Given the description of an element on the screen output the (x, y) to click on. 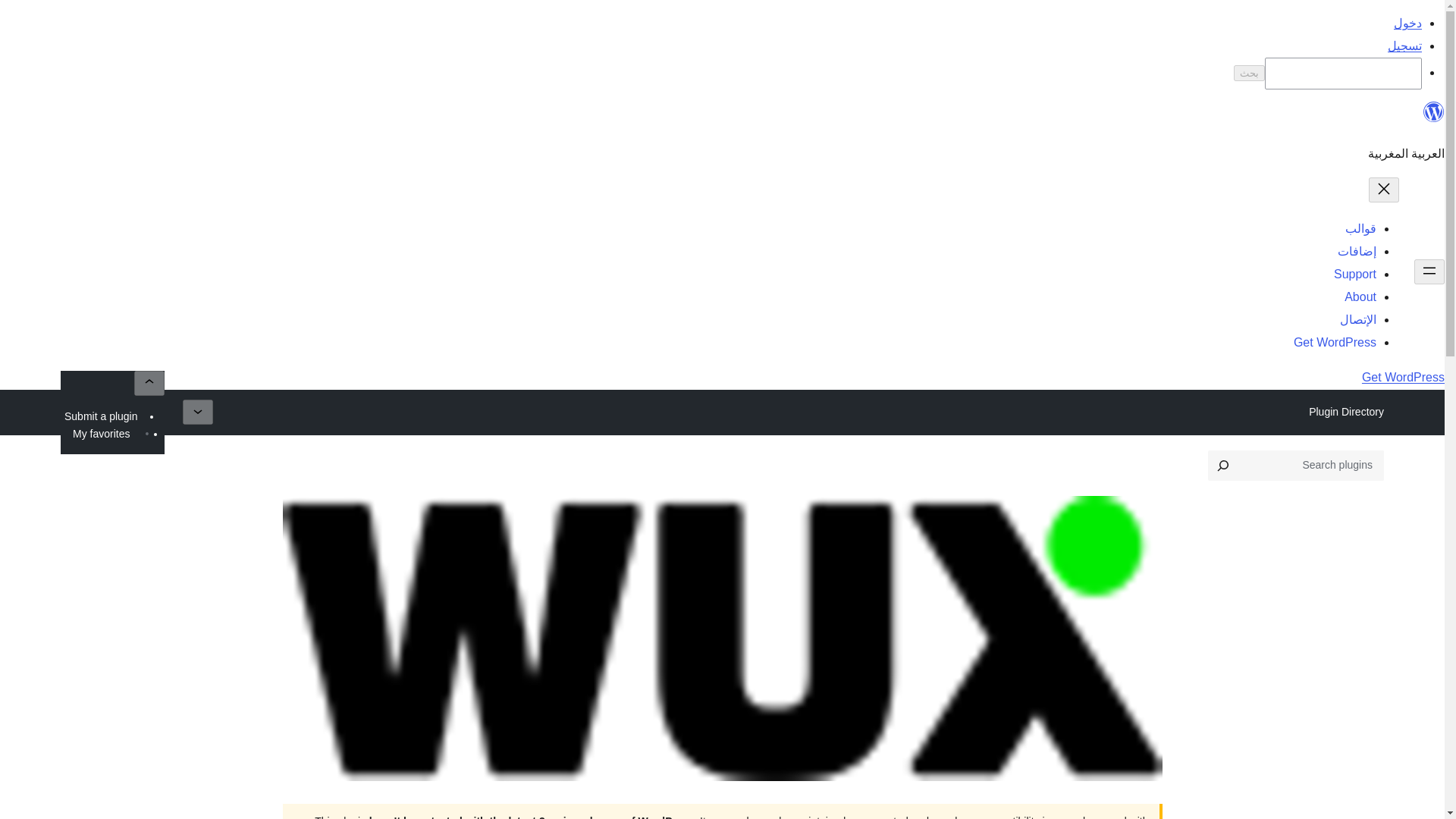
Installation (964, 692)
Get WordPress (67, 58)
My favorites (93, 115)
Download (317, 613)
Reviews (1051, 692)
Submit a plugin (191, 115)
Support (310, 692)
Details (1127, 692)
Development (863, 692)
Plugin Directory (1345, 115)
